Given the description of an element on the screen output the (x, y) to click on. 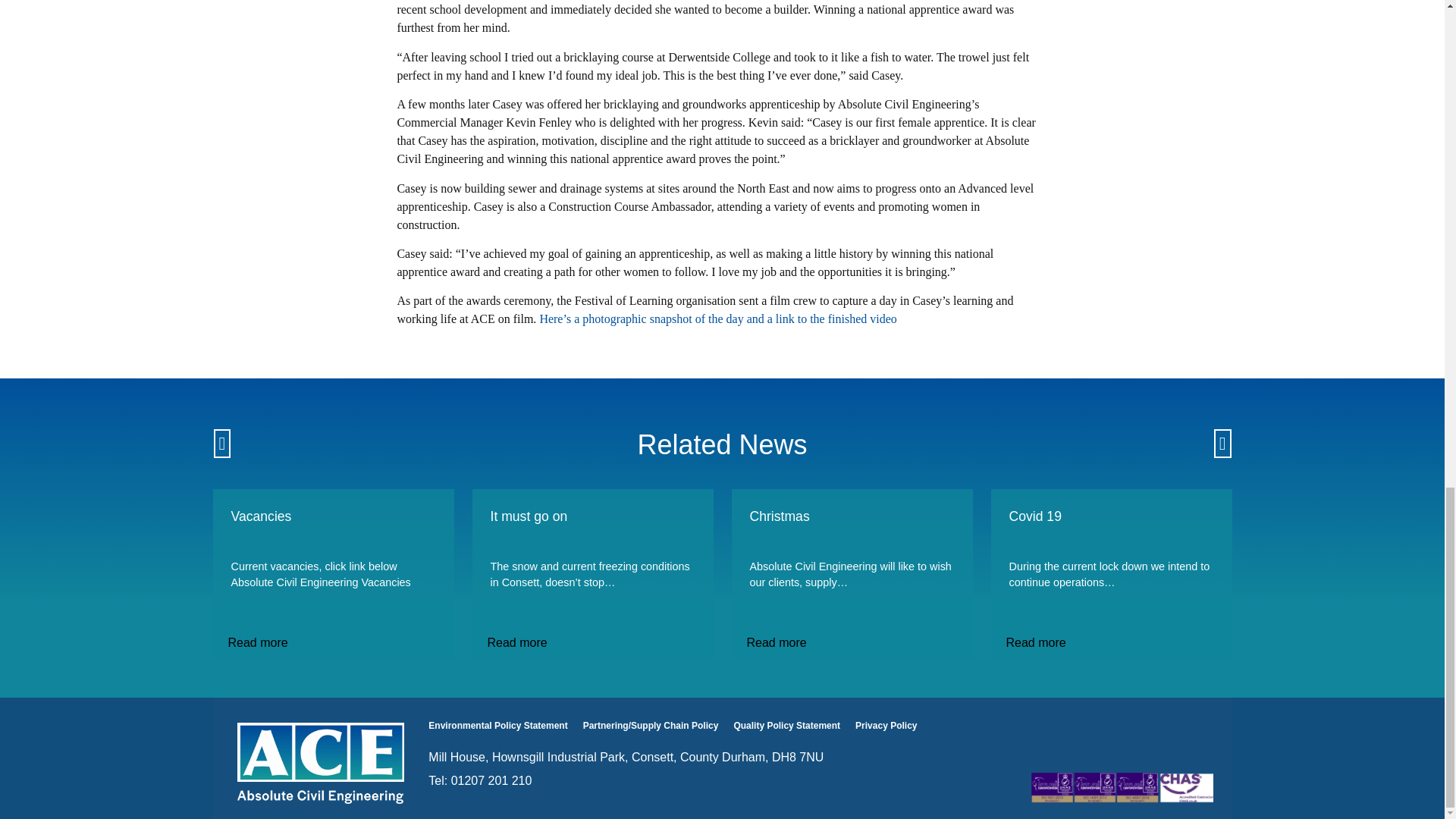
Vacancies (332, 528)
